Given the description of an element on the screen output the (x, y) to click on. 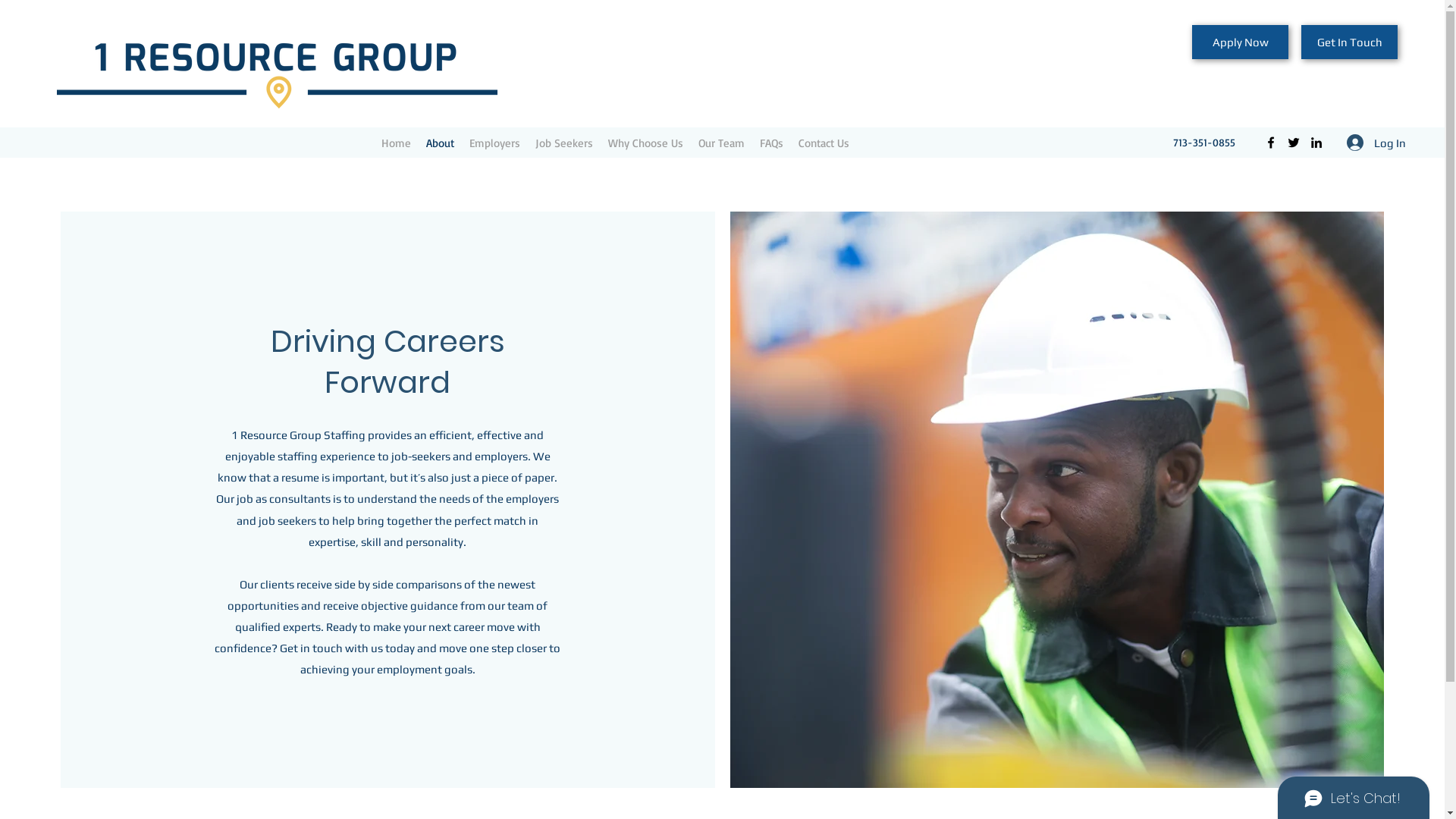
About Element type: text (439, 142)
Our Team Element type: text (721, 142)
Why Choose Us Element type: text (645, 142)
Log In Element type: text (1376, 142)
Employers Element type: text (494, 142)
Job Seekers Element type: text (563, 142)
Contact Us Element type: text (823, 142)
FAQs Element type: text (771, 142)
Home Element type: text (395, 142)
Apply Now Element type: text (1240, 42)
Get In Touch Element type: text (1349, 42)
